Given the description of an element on the screen output the (x, y) to click on. 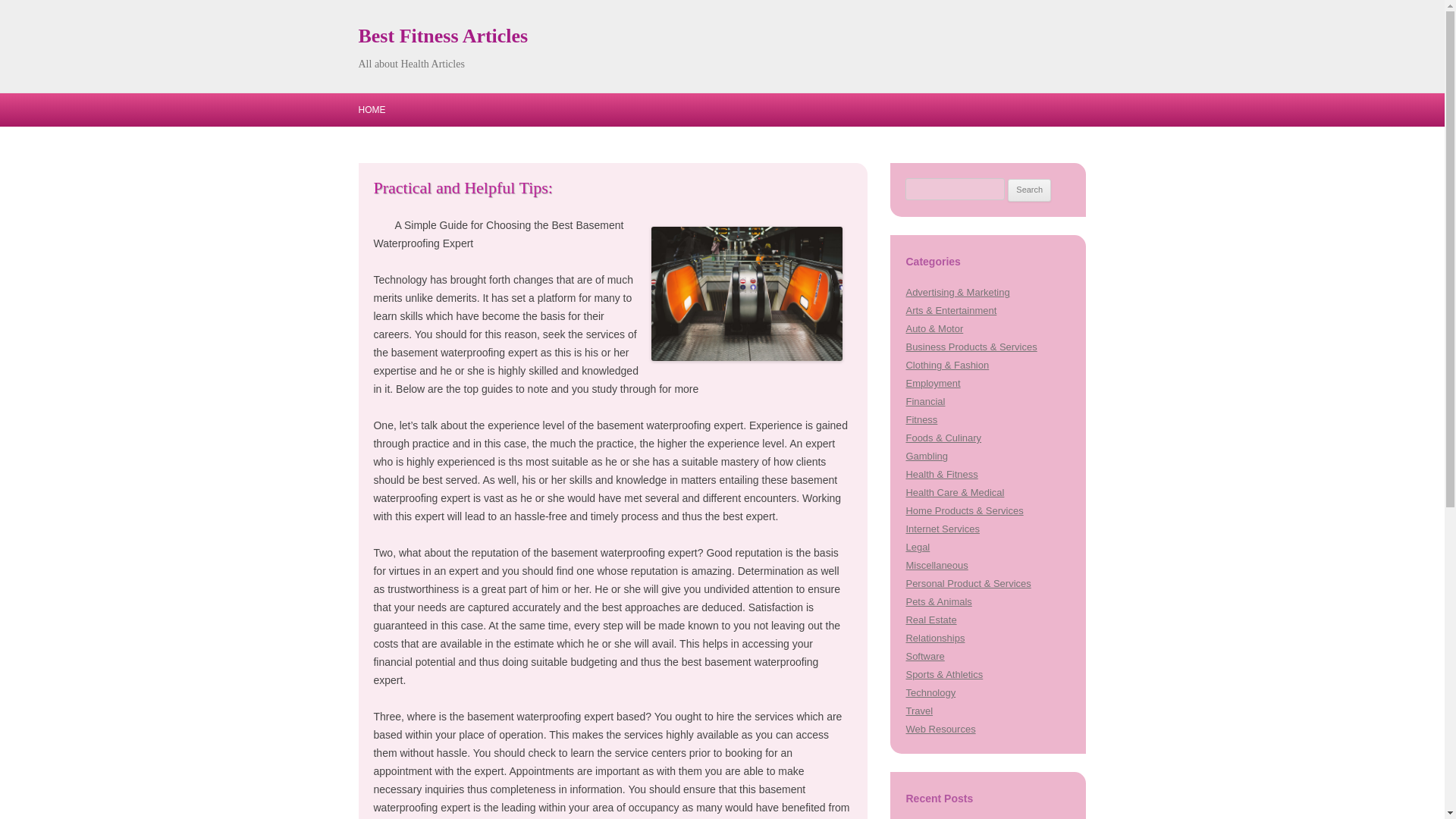
Gambling (926, 455)
Search (1029, 190)
Best Fitness Articles (442, 36)
Relationships (934, 637)
Travel (919, 710)
Financial (924, 401)
Miscellaneous (936, 564)
Search (1029, 190)
Web Resources (940, 728)
Best Fitness Articles (442, 36)
Technology (930, 692)
Legal (917, 546)
Software (924, 655)
